Given the description of an element on the screen output the (x, y) to click on. 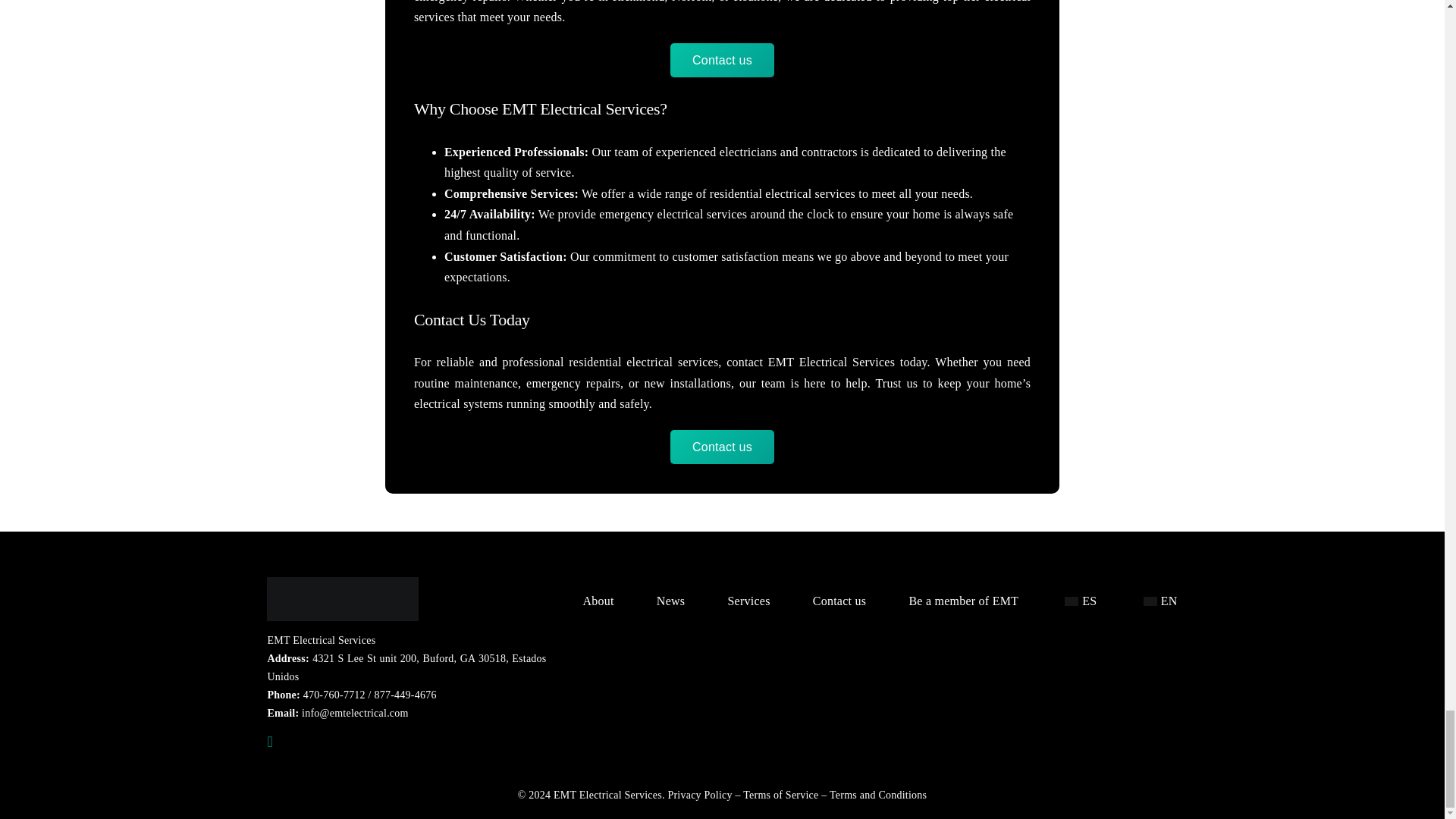
Contact us (721, 59)
Spanish (1071, 601)
English (1149, 601)
Logo EMT White (342, 598)
